Given the description of an element on the screen output the (x, y) to click on. 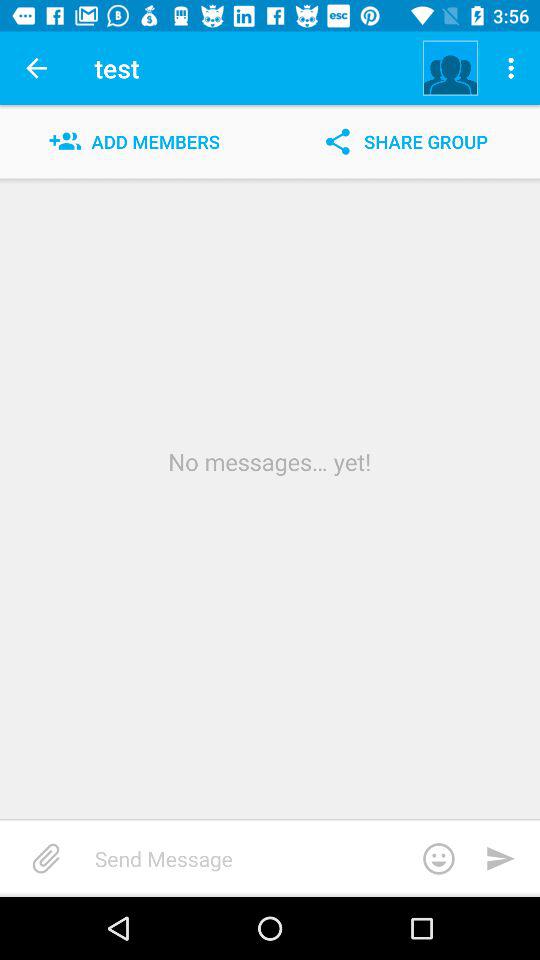
type a message (282, 858)
